Given the description of an element on the screen output the (x, y) to click on. 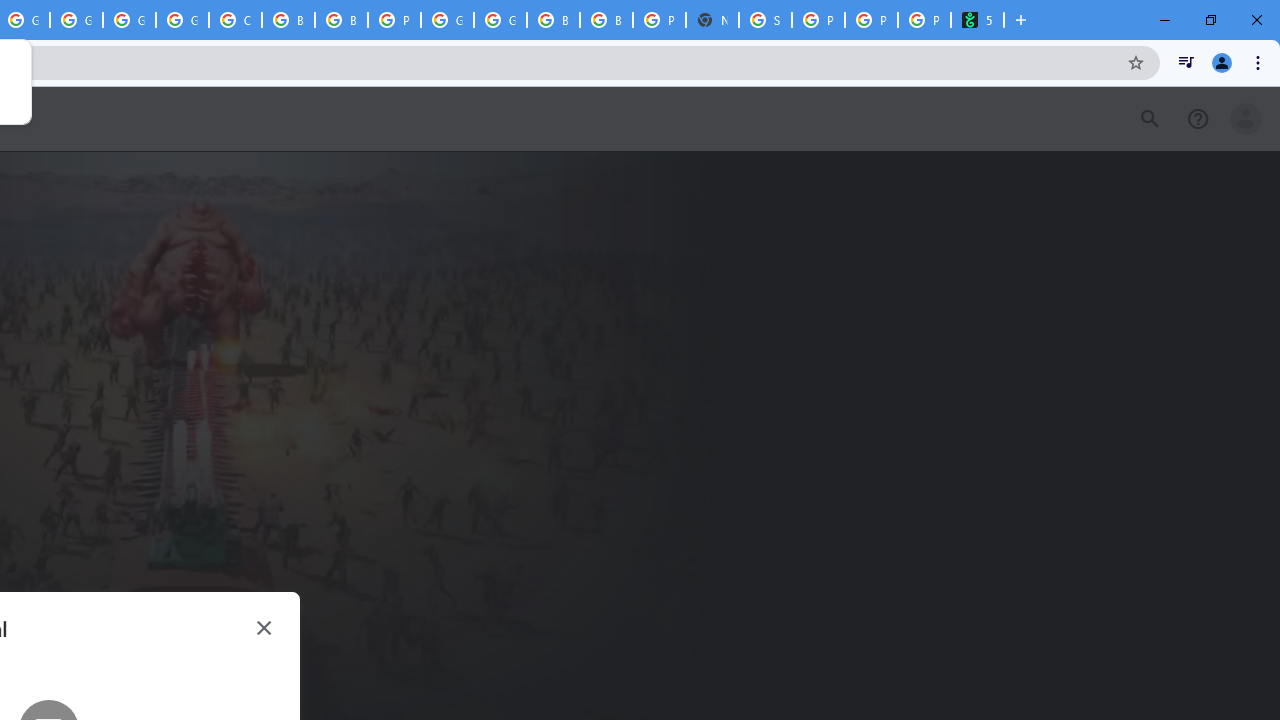
New Tab (712, 20)
Google Cloud Platform (129, 20)
Browse Chrome as a guest - Computer - Google Chrome Help (553, 20)
Google Cloud Platform (447, 20)
Browse Chrome as a guest - Computer - Google Chrome Help (288, 20)
Google Cloud Platform (500, 20)
